Given the description of an element on the screen output the (x, y) to click on. 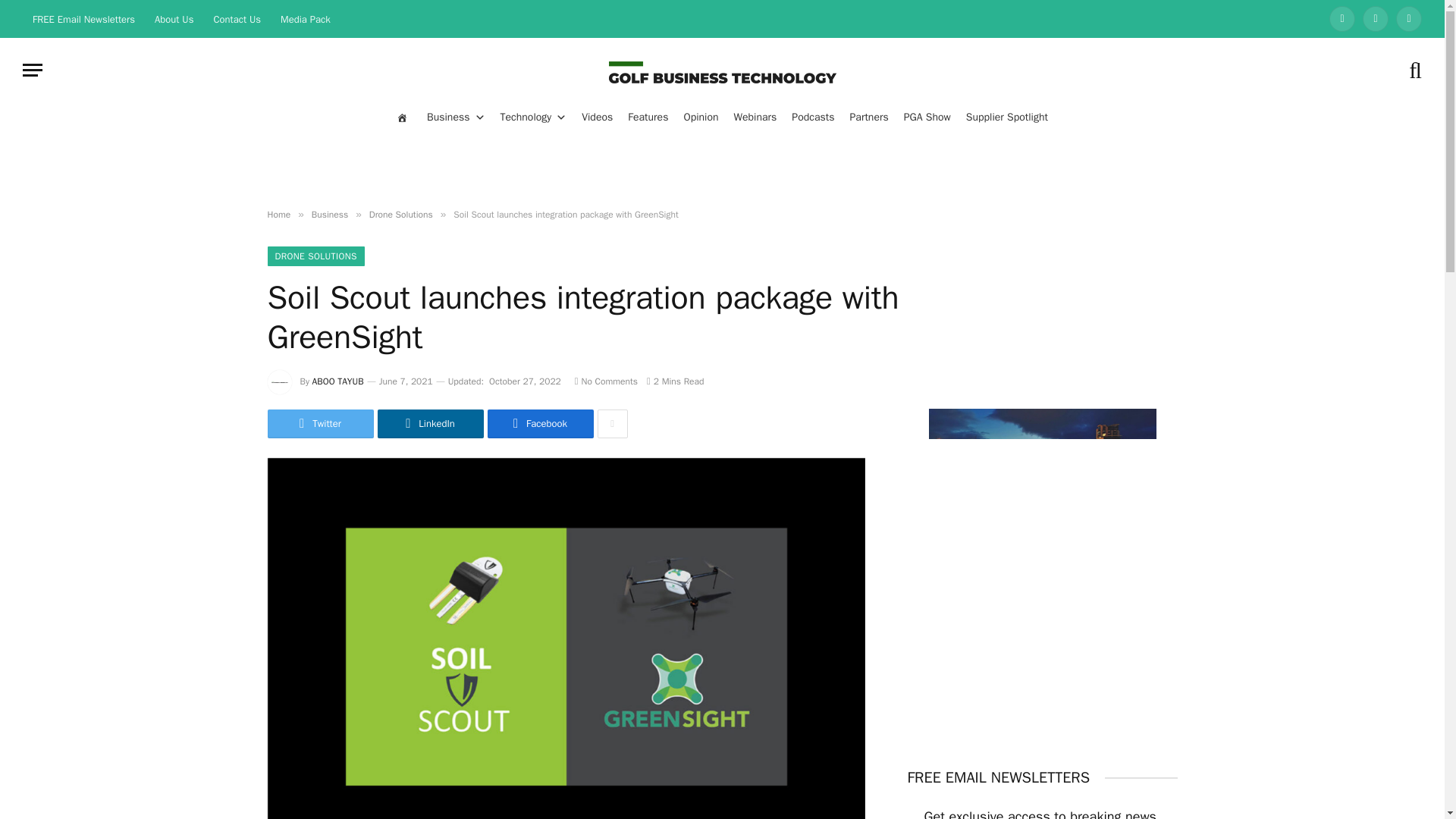
Posts by Aboo Tayub (338, 381)
Show More Social Sharing (611, 423)
LinkedIn (1342, 18)
Golf Business Technology (721, 69)
Share on Facebook (539, 423)
Business (455, 117)
Share on LinkedIn (430, 423)
About Us (173, 18)
FREE Email Newsletters (83, 18)
Contact Us (236, 18)
